Given the description of an element on the screen output the (x, y) to click on. 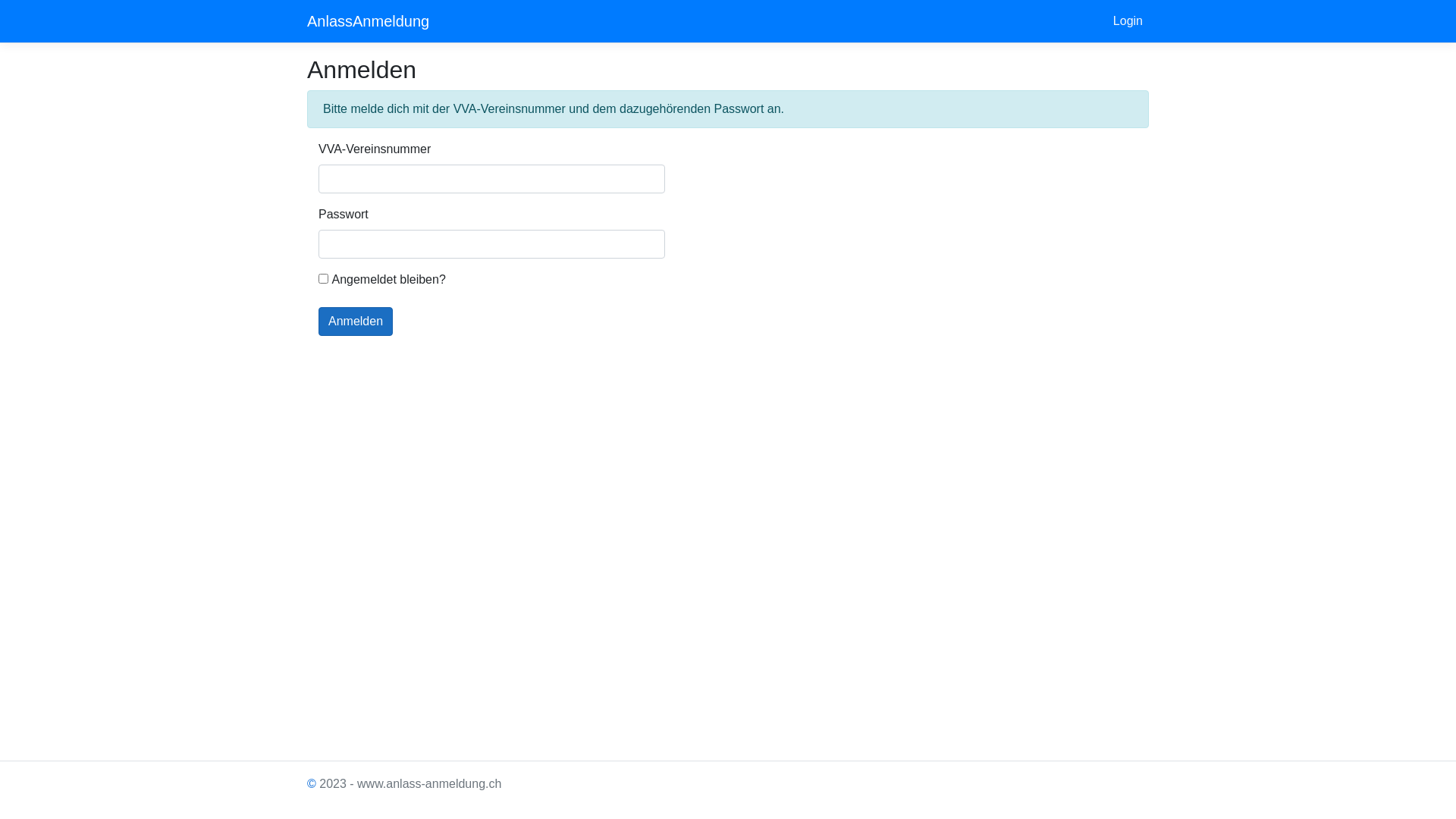
Login Element type: text (1127, 21)
Anmelden Element type: text (355, 321)
AnlassAnmeldung Element type: text (368, 21)
